Given the description of an element on the screen output the (x, y) to click on. 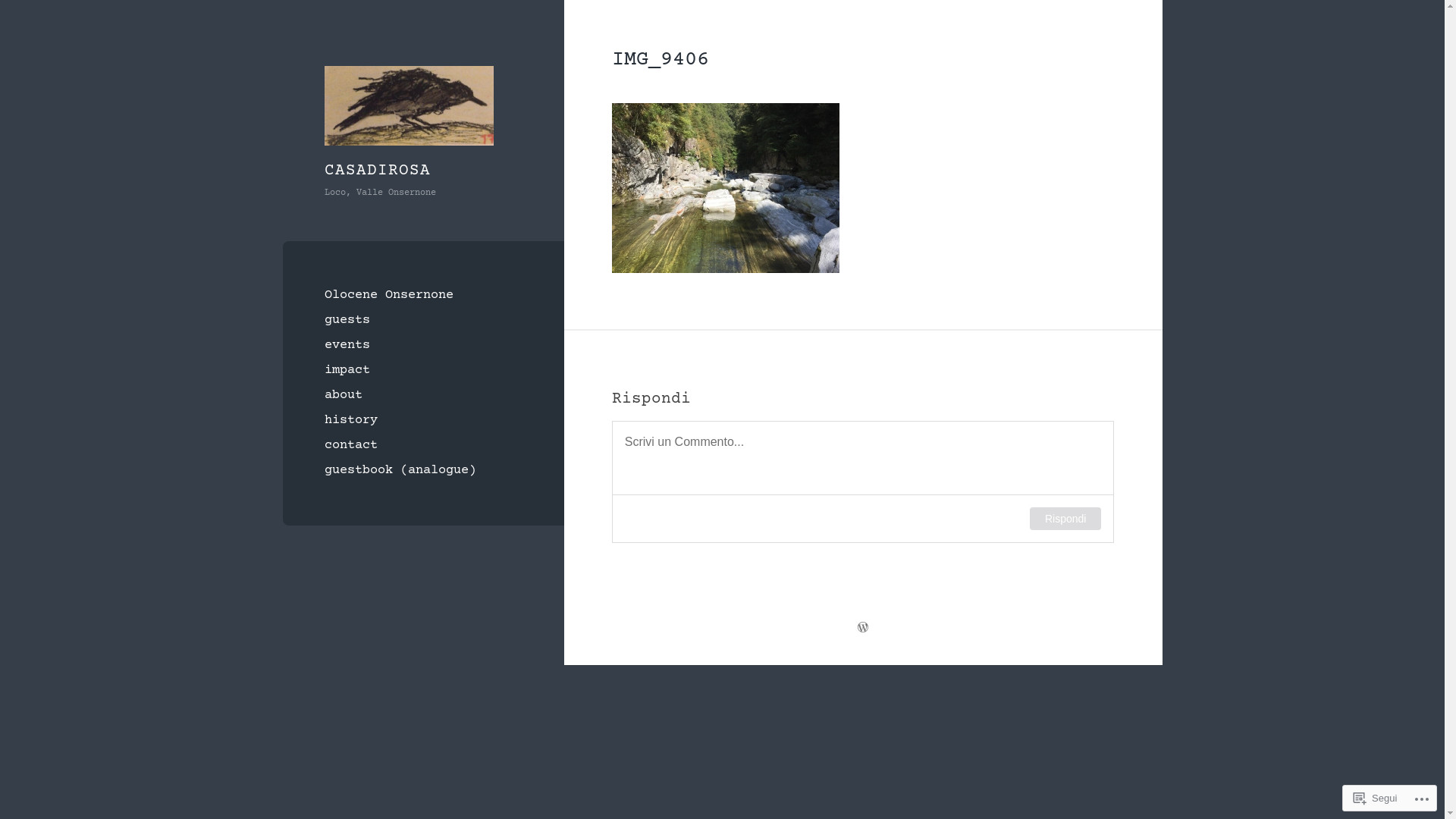
contact Element type: text (422, 445)
guests Element type: text (422, 319)
CASADIROSA Element type: text (377, 170)
Segui Element type: text (1374, 797)
guestbook (analogue) Element type: text (422, 470)
history Element type: text (422, 420)
CREA UN SITO WEB O UN BLOG SU WORDPRESS.COM Element type: text (862, 629)
impact Element type: text (422, 369)
Rispondi Element type: text (1065, 518)
Olocene Onsernone Element type: text (422, 294)
events Element type: text (422, 344)
about Element type: text (422, 394)
